Given the description of an element on the screen output the (x, y) to click on. 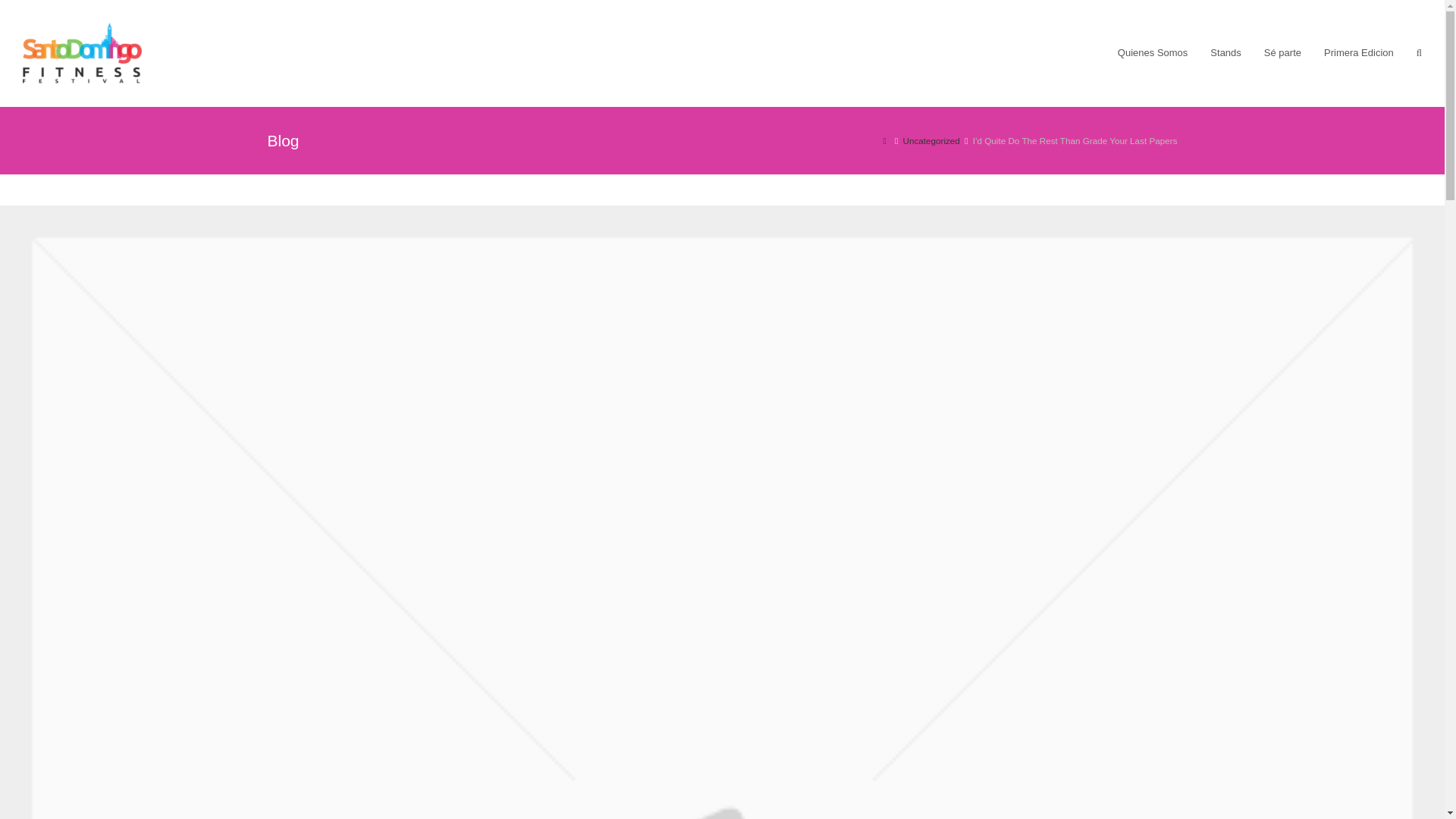
Uncategorized (930, 140)
Quienes Somos (1152, 53)
Stands (1225, 53)
Primera Edicion (1359, 53)
